Given the description of an element on the screen output the (x, y) to click on. 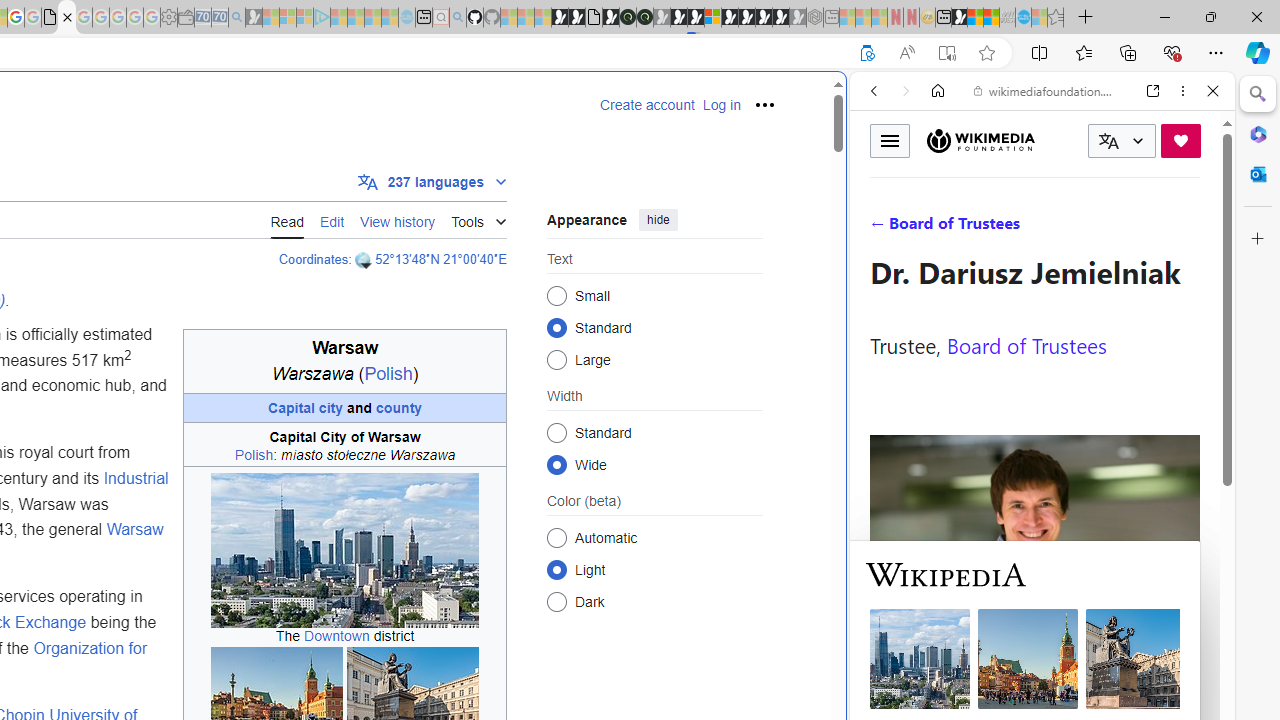
Polish (253, 455)
Wide (556, 464)
hide (658, 219)
Log in (721, 105)
county (399, 407)
Sign in to your account (712, 17)
Light (556, 569)
Log in (721, 105)
